Given the description of an element on the screen output the (x, y) to click on. 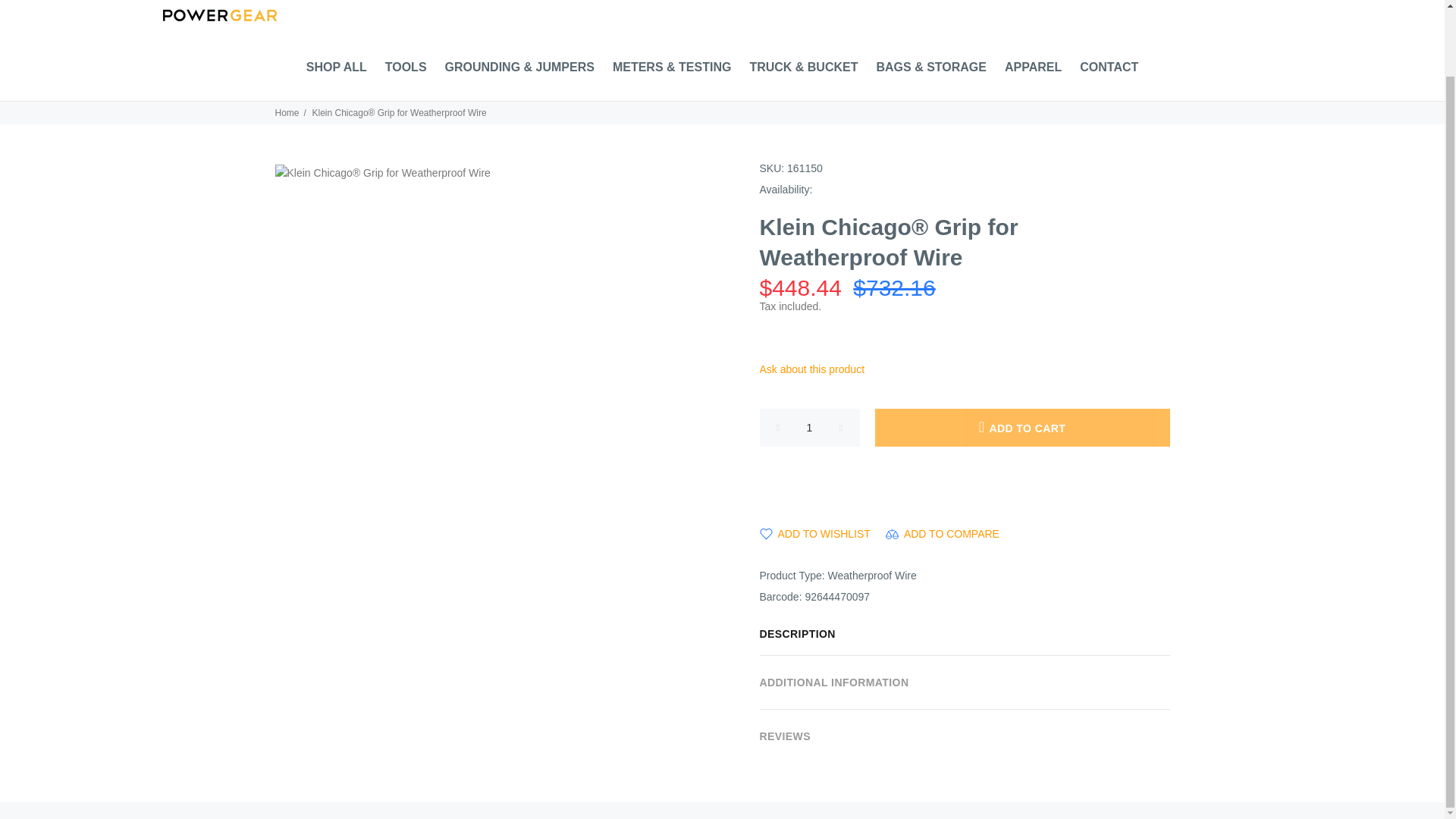
1 (810, 427)
